Given the description of an element on the screen output the (x, y) to click on. 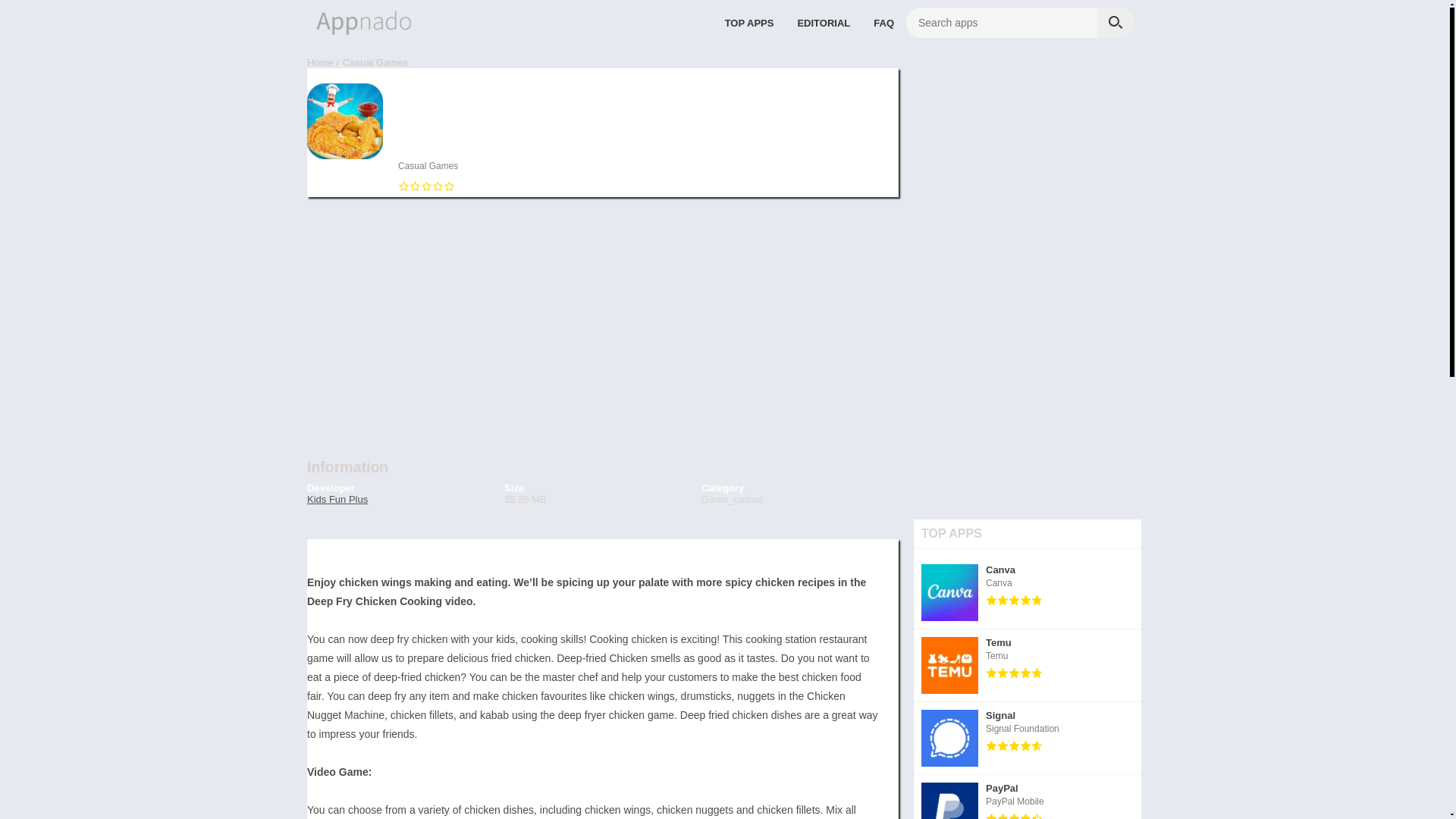
Home (1027, 592)
EDITORIAL (1027, 796)
TOP APPS (320, 61)
Casual Games (823, 22)
FAQ (749, 22)
Advertisement (427, 165)
Appnado (1027, 737)
Kids Fun Plus (883, 22)
Casual Games (602, 318)
